Given the description of an element on the screen output the (x, y) to click on. 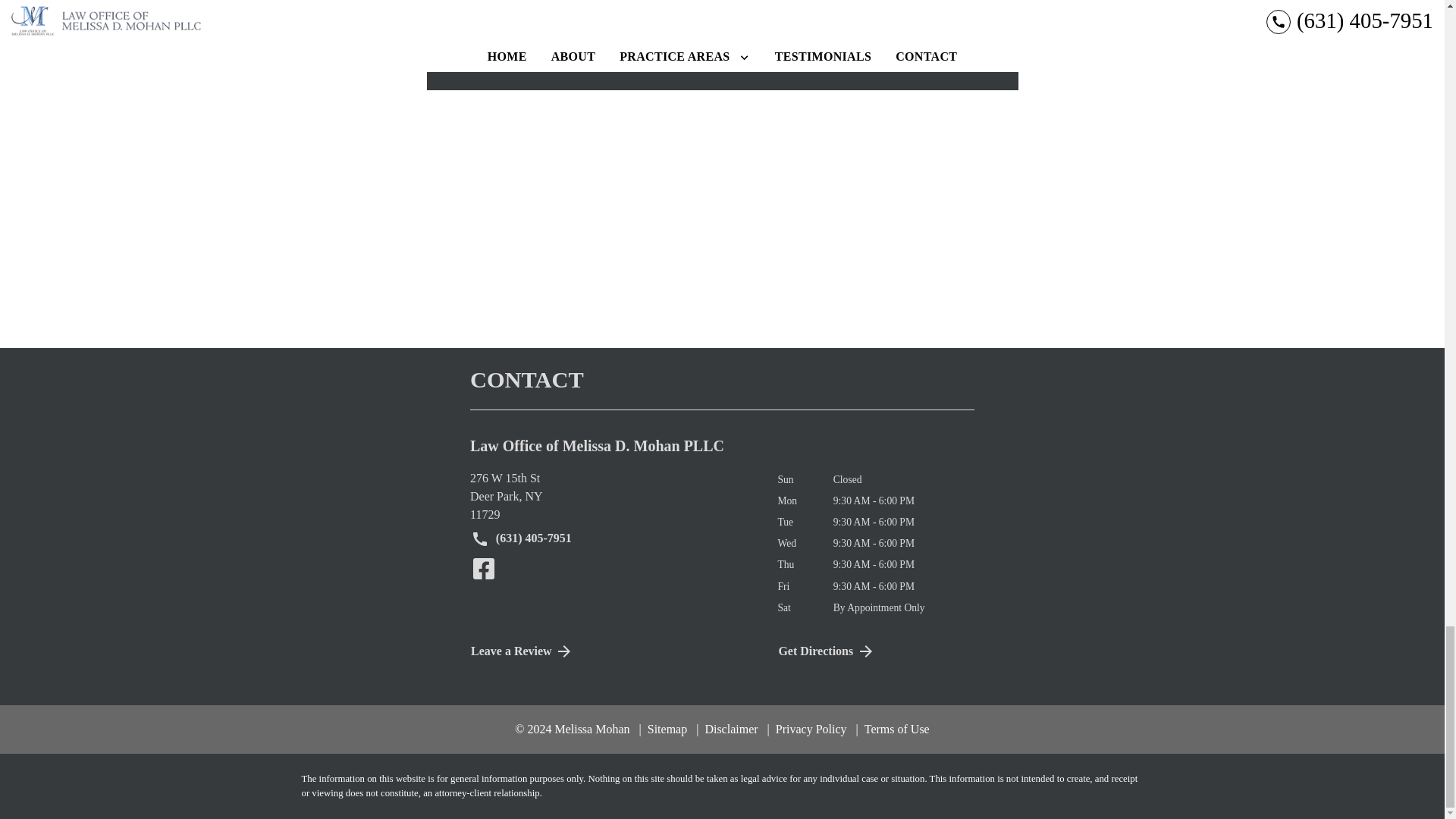
Leave a Review (612, 651)
Sitemap (663, 728)
Terms of Use (893, 728)
SUBMIT (924, 25)
Disclaimer (612, 496)
Privacy Policy (726, 728)
Get Directions (807, 728)
